Given the description of an element on the screen output the (x, y) to click on. 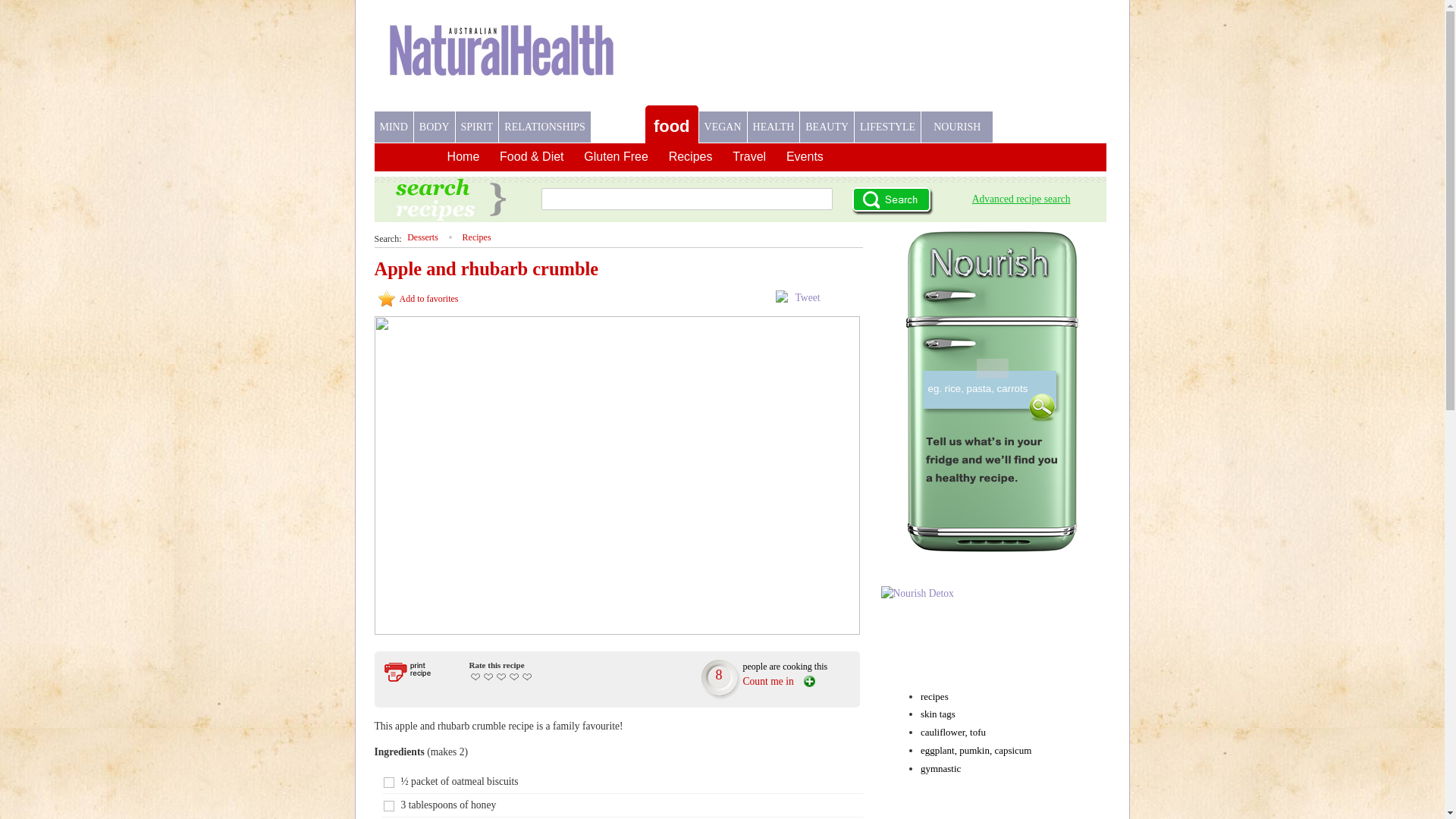
Count me in Element type: text (779, 681)
MIND Element type: text (393, 126)
skin tags Element type: text (937, 713)
NOURISH Element type: text (956, 126)
Printer-friendly version Element type: text (417, 671)
HEALTH Element type: text (773, 126)
Good Element type: text (500, 676)
Awesome Element type: text (526, 676)
Okay Element type: text (488, 676)
recipes Element type: text (934, 696)
gymnastic Element type: text (940, 768)
Enter the terms you wish to search for. Element type: hover (686, 199)
Great Element type: text (514, 676)
Food & Diet Element type: text (531, 159)
Gluten Free Element type: text (615, 159)
VEGAN Element type: text (722, 126)
Tweet Element type: text (806, 297)
cauliflower, tofu Element type: text (952, 731)
SPIRIT Element type: text (476, 126)
food Element type: text (671, 126)
Enter the terms you wish to search for. Element type: hover (998, 388)
Recipes Element type: text (690, 159)
Australian Natural Health Magazine - Nourish Element type: text (501, 61)
Advanced recipe search Element type: text (1021, 199)
Desserts Element type: text (422, 237)
Rate Element type: text (16, 7)
eggplant, pumkin, capsicum Element type: text (976, 750)
Add to favorites Element type: text (417, 299)
LIFESTYLE Element type: text (887, 126)
Poor Element type: text (474, 676)
RECIPES Element type: text (617, 120)
RELATIONSHIPS Element type: text (544, 126)
Travel Element type: text (748, 159)
Events Element type: text (804, 159)
Recipes Element type: text (476, 237)
BEAUTY Element type: text (826, 126)
BODY Element type: text (434, 126)
Home Element type: text (463, 159)
